Given the description of an element on the screen output the (x, y) to click on. 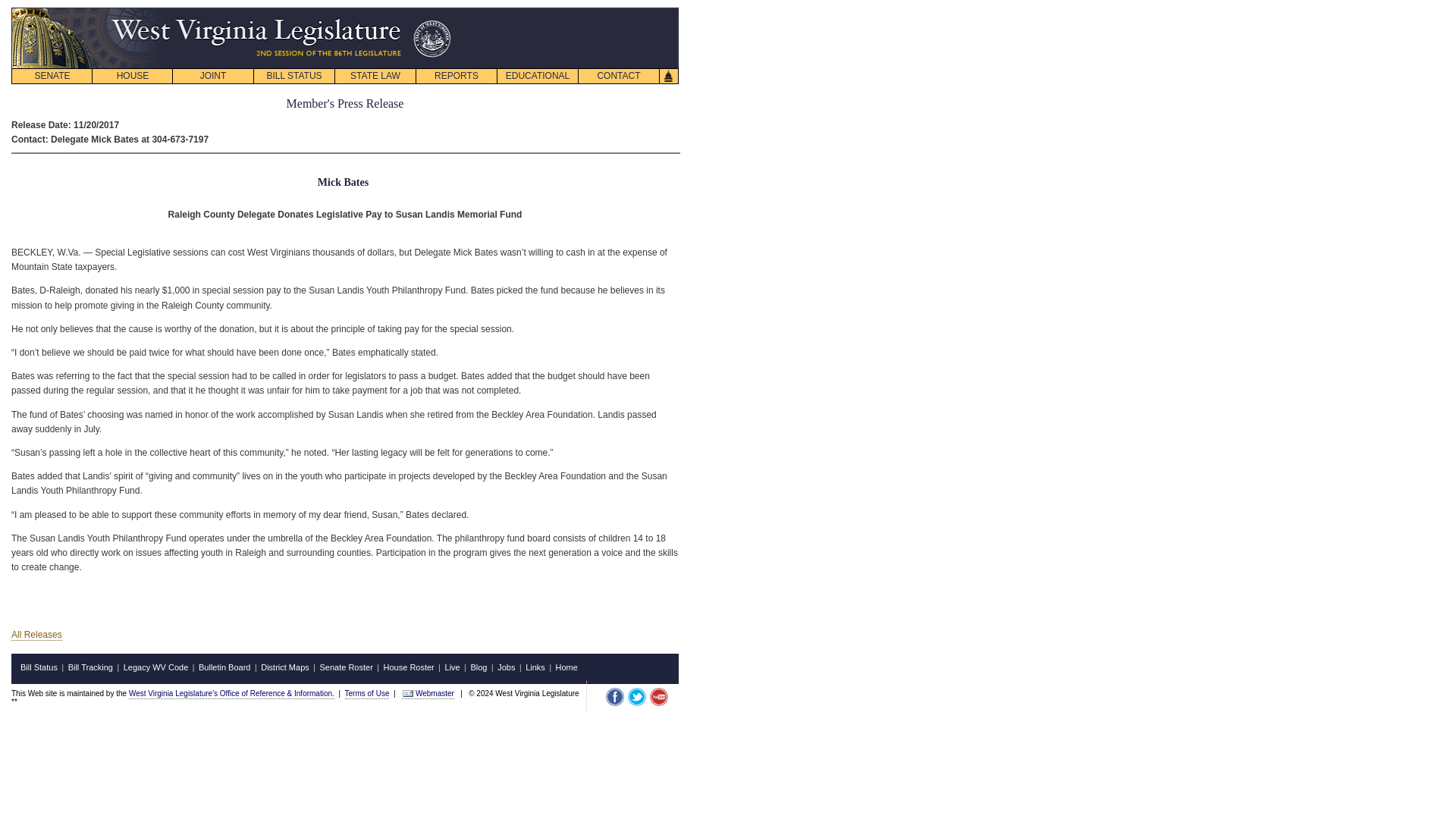
Follow on Twitter (636, 696)
SENATE (52, 75)
HOUSE (132, 75)
STATE LAW (375, 75)
JOINT (212, 75)
Find on Facebook (614, 696)
Watch on YouTube (658, 696)
BILL STATUS (293, 75)
Email Webmaster (407, 692)
